Given the description of an element on the screen output the (x, y) to click on. 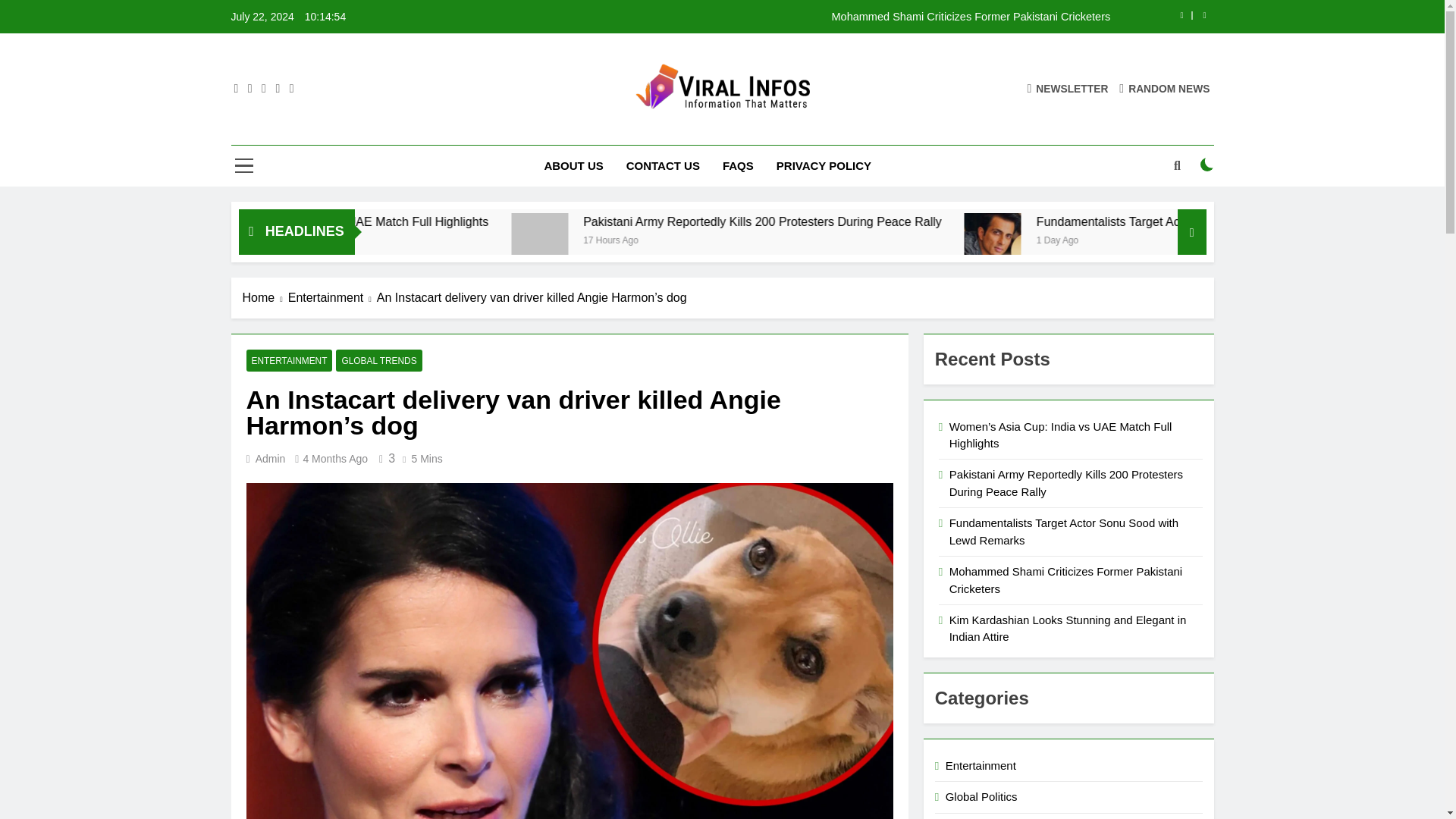
Viral Infos (558, 130)
RANDOM NEWS (1164, 88)
ABOUT US (573, 165)
Mohammed Shami Criticizes Former Pakistani Cricketers (817, 16)
PRIVACY POLICY (823, 165)
17 Hours Ago (785, 238)
on (1206, 164)
FAQS (738, 165)
CONTACT US (662, 165)
8 Hours Ago (398, 238)
Mohammed Shami Criticizes Former Pakistani Cricketers (817, 16)
NEWSLETTER (1067, 88)
